Given the description of an element on the screen output the (x, y) to click on. 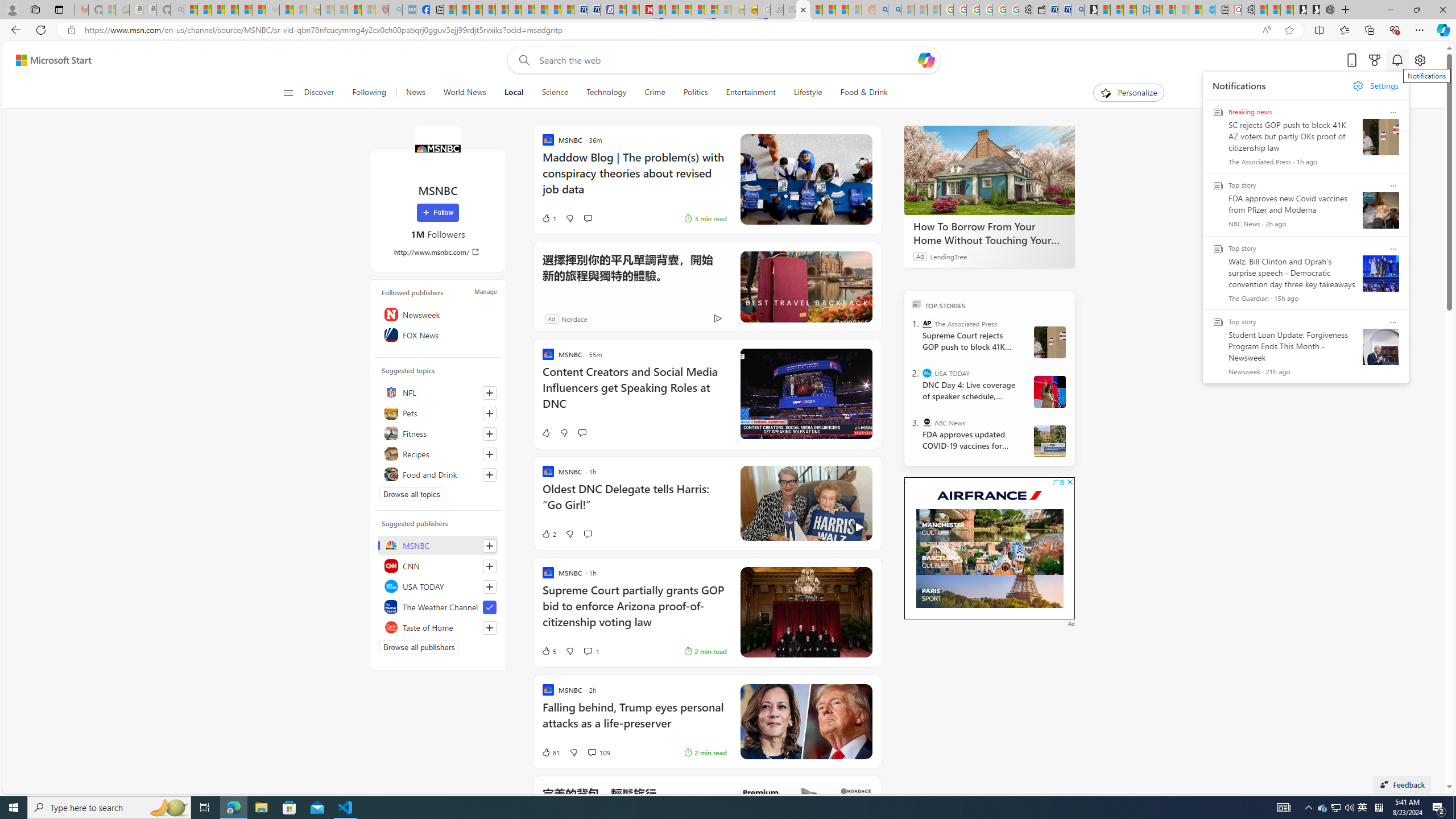
World News (464, 92)
MSNBC (437, 148)
AutomationID: cbb (1069, 481)
New Report Confirms 2023 Was Record Hot | Watch (245, 9)
Recipes - MSN - Sleeping (327, 9)
